Given the description of an element on the screen output the (x, y) to click on. 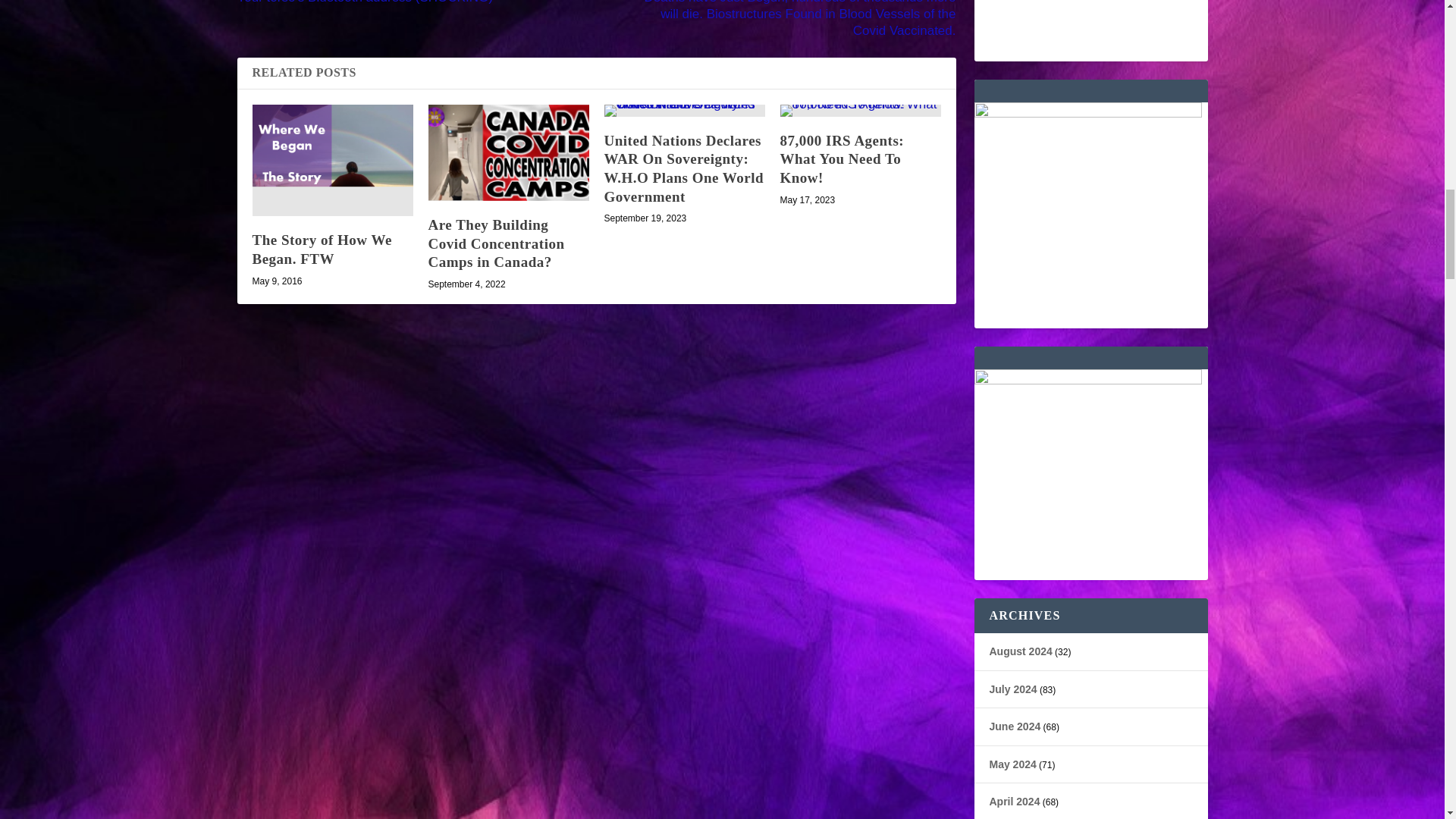
87,000 IRS Agents: What You Need To Know! (841, 158)
May 2024 (1011, 764)
Are They Building Covid Concentration Camps in Canada? (508, 152)
April 2024 (1013, 801)
87,000 IRS Agents: What You Need To Know! (859, 110)
Are They Building Covid Concentration Camps in Canada? (496, 243)
The Story of How We Began. FTW (321, 248)
July 2024 (1012, 689)
August 2024 (1019, 651)
